Given the description of an element on the screen output the (x, y) to click on. 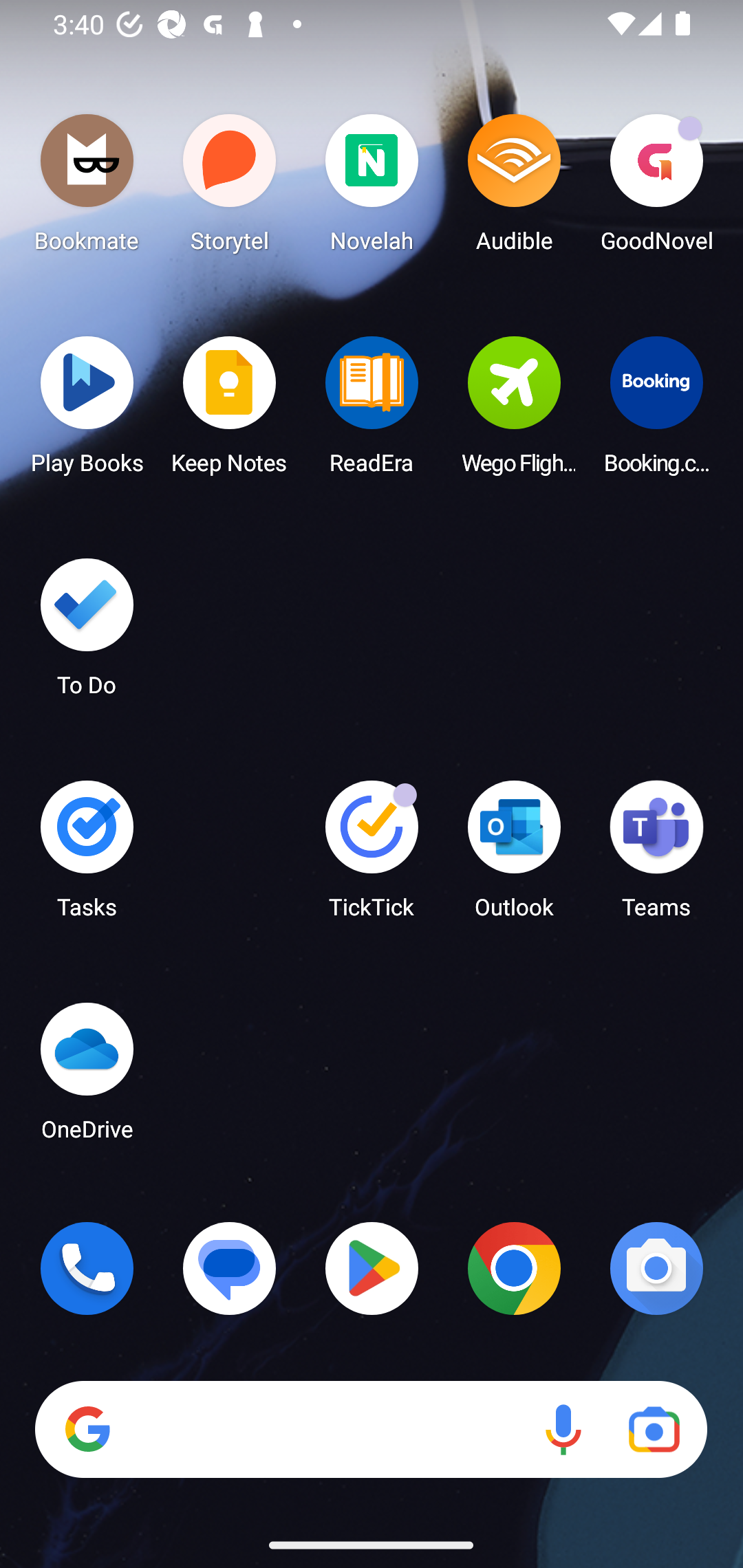
Bookmate (86, 188)
Storytel (229, 188)
Novelah (371, 188)
Audible (513, 188)
GoodNovel GoodNovel has 1 notification (656, 188)
Play Books (86, 410)
Keep Notes (229, 410)
ReadEra (371, 410)
Wego Flights & Hotels (513, 410)
Booking.com (656, 410)
To Do (86, 633)
Tasks (86, 854)
TickTick TickTick has 3 notifications (371, 854)
Outlook (513, 854)
Teams (656, 854)
OneDrive (86, 1076)
Phone (86, 1268)
Messages (229, 1268)
Play Store (371, 1268)
Chrome (513, 1268)
Camera (656, 1268)
Search Voice search Google Lens (370, 1429)
Voice search (562, 1429)
Google Lens (653, 1429)
